Given the description of an element on the screen output the (x, y) to click on. 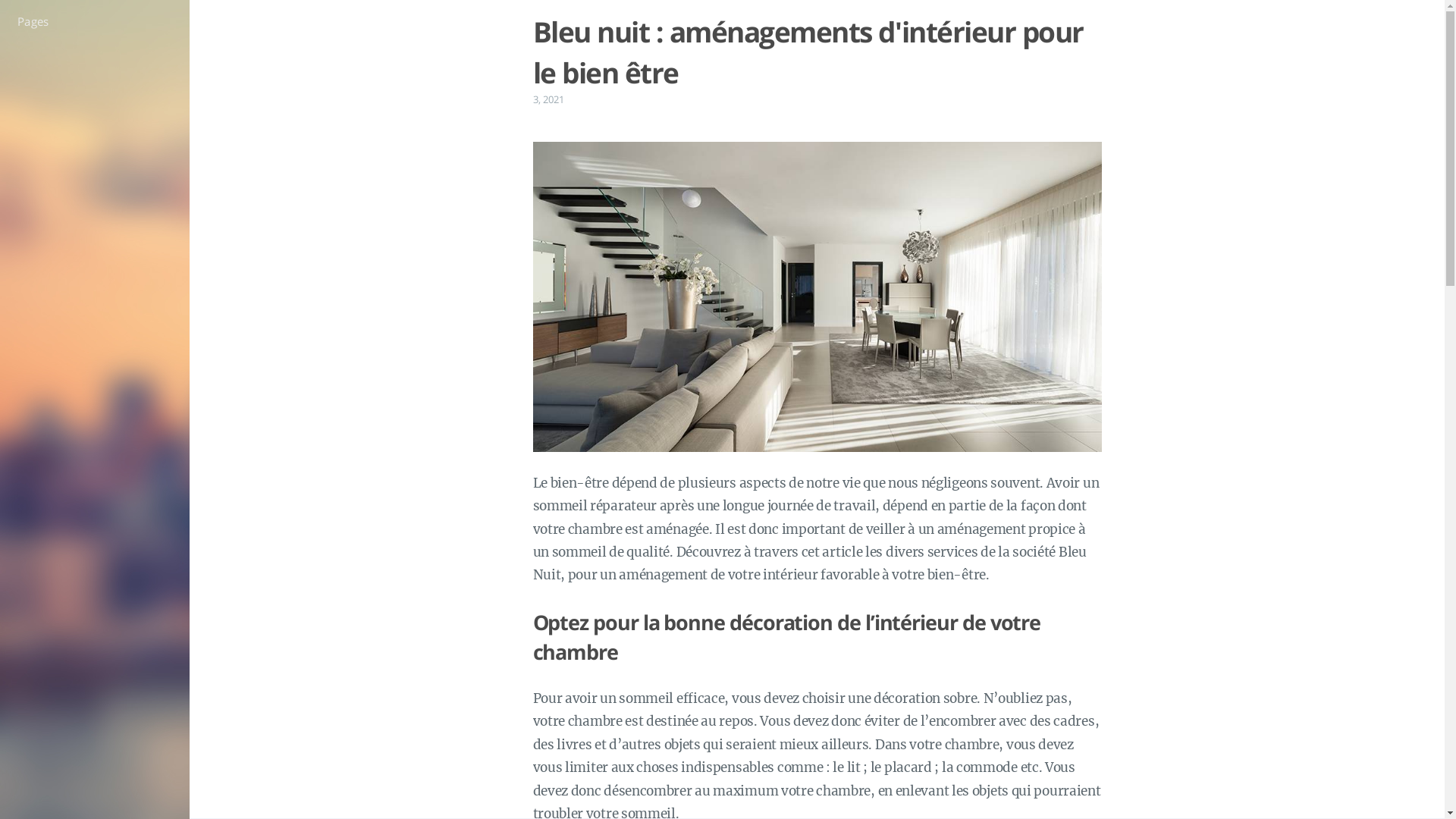
Pages Element type: text (94, 20)
